Given the description of an element on the screen output the (x, y) to click on. 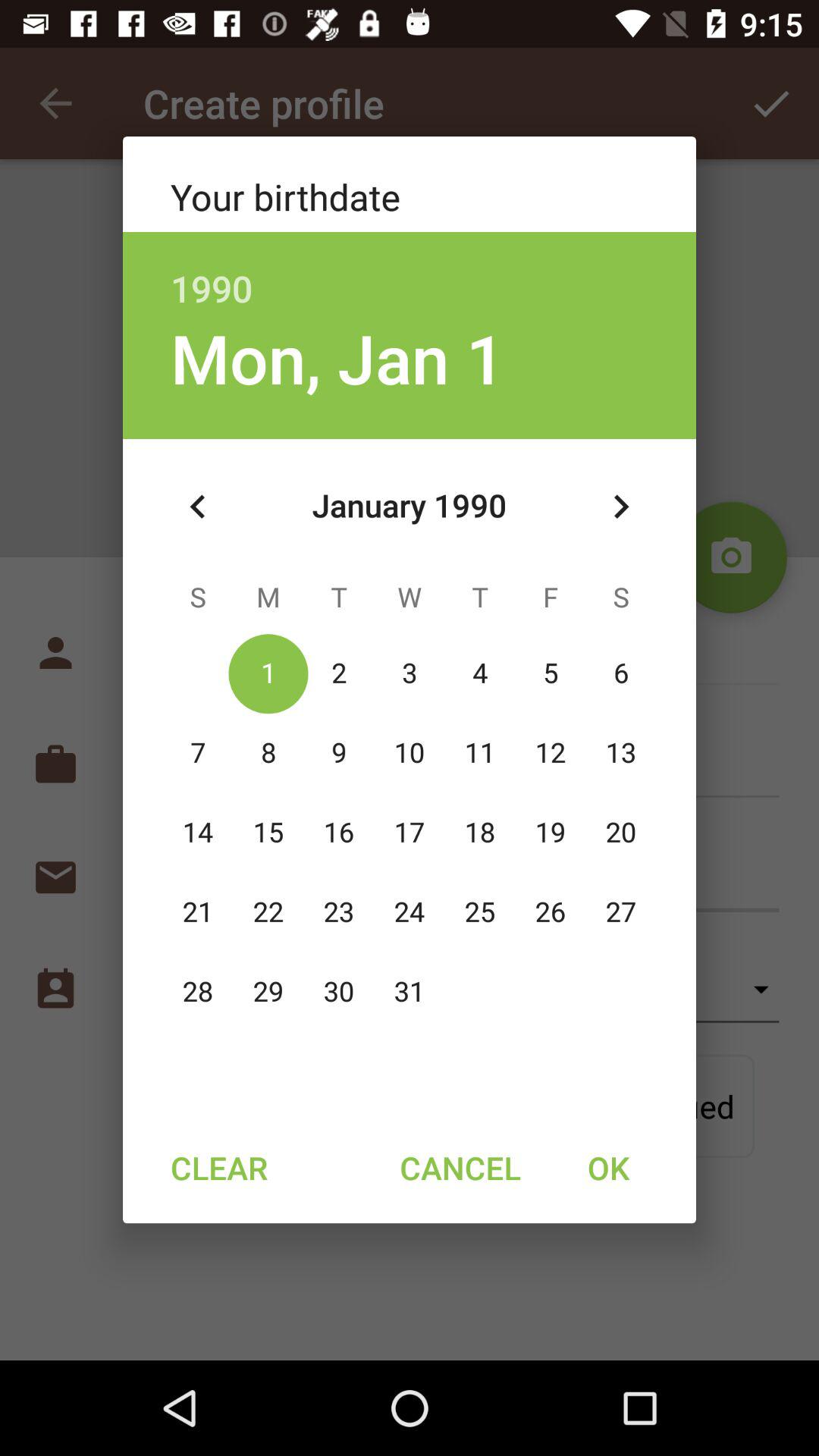
launch the item to the right of clear (459, 1167)
